Given the description of an element on the screen output the (x, y) to click on. 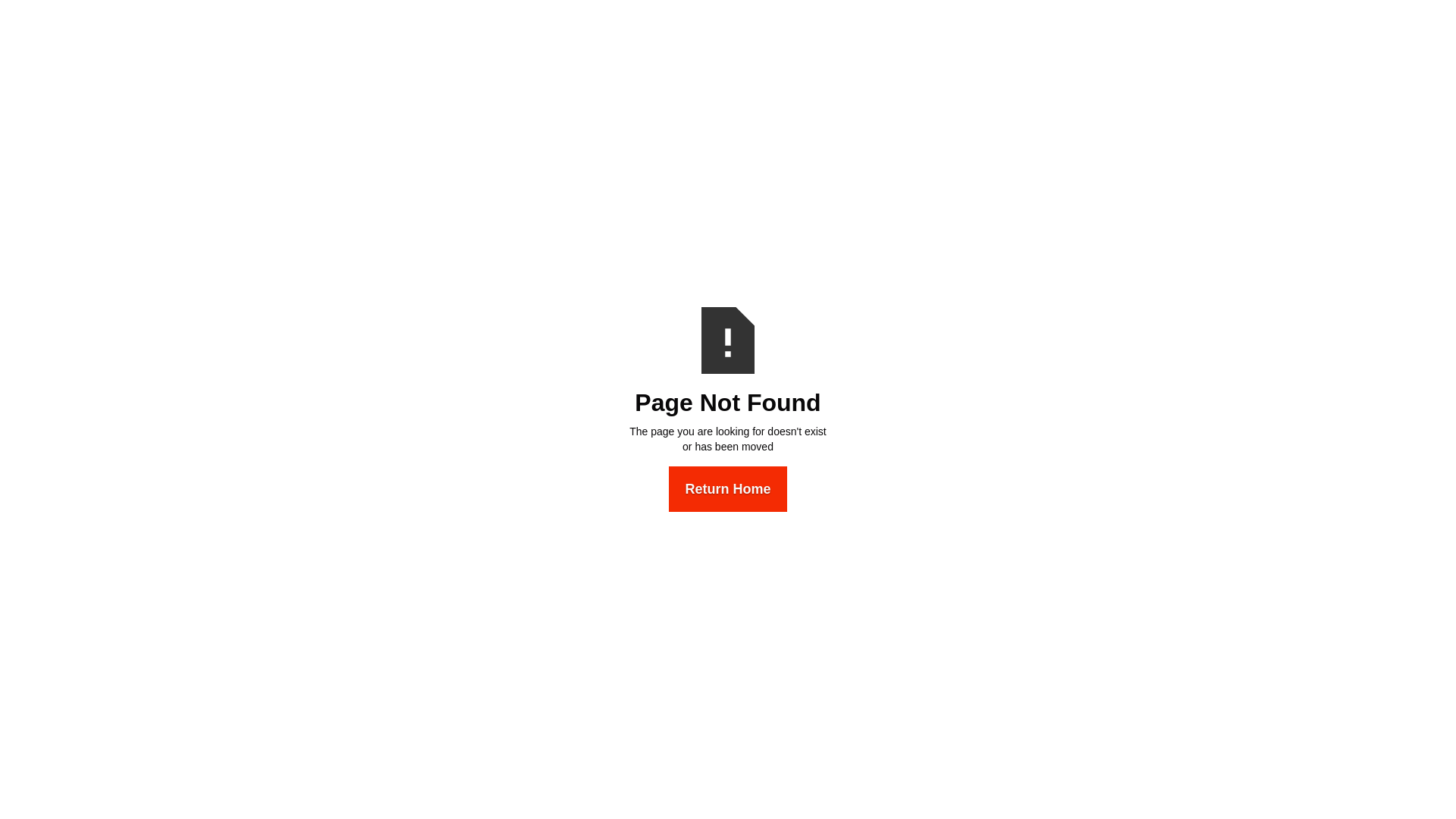
Return Home Element type: text (727, 488)
